Given the description of an element on the screen output the (x, y) to click on. 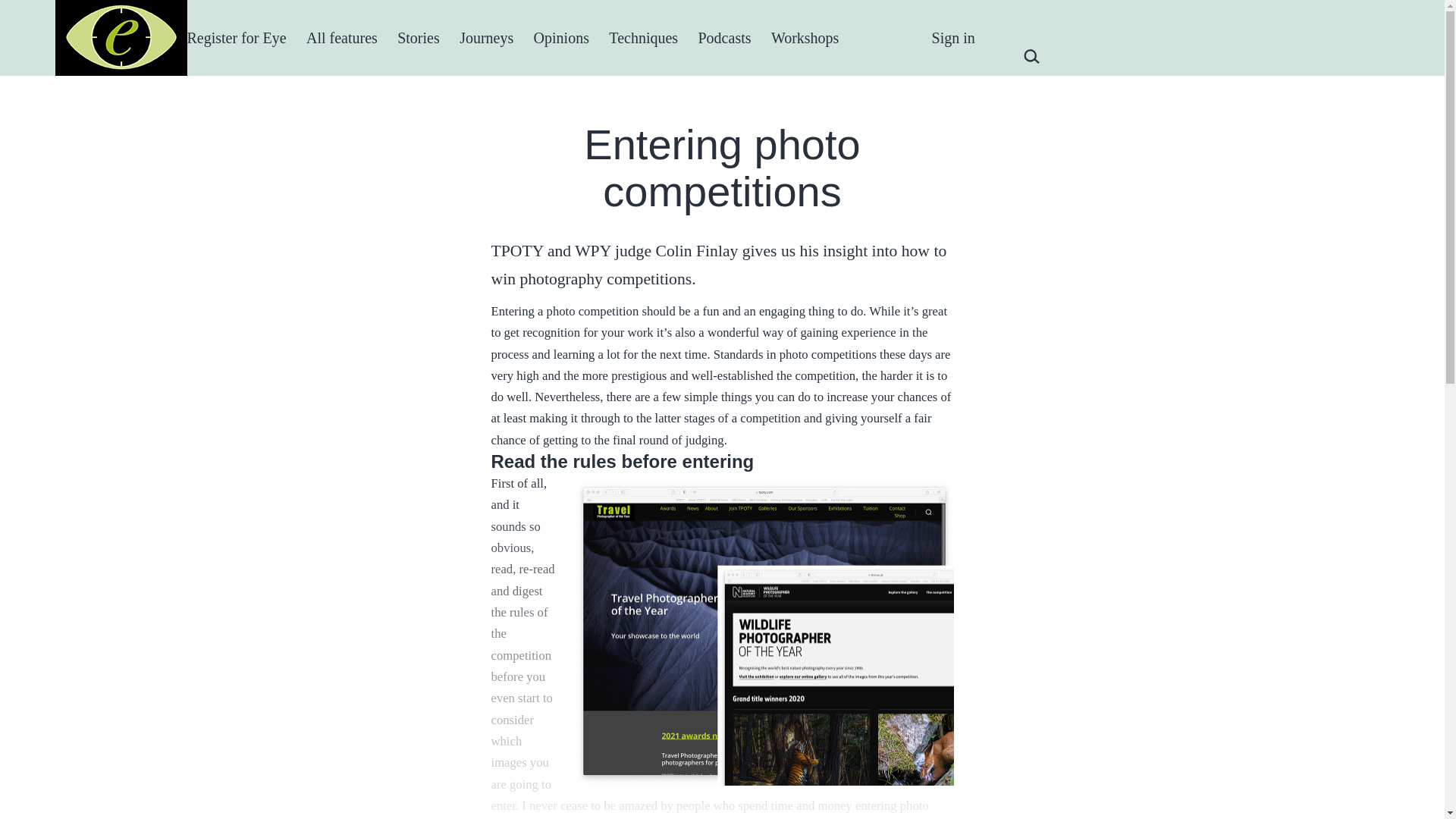
Journeys (485, 37)
Sign in (953, 37)
Stories (418, 37)
Register for Eye (235, 37)
Techniques (642, 37)
Opinions (560, 37)
TPOTY (887, 37)
Workshops (804, 37)
All features (342, 37)
Podcasts (723, 37)
